Given the description of an element on the screen output the (x, y) to click on. 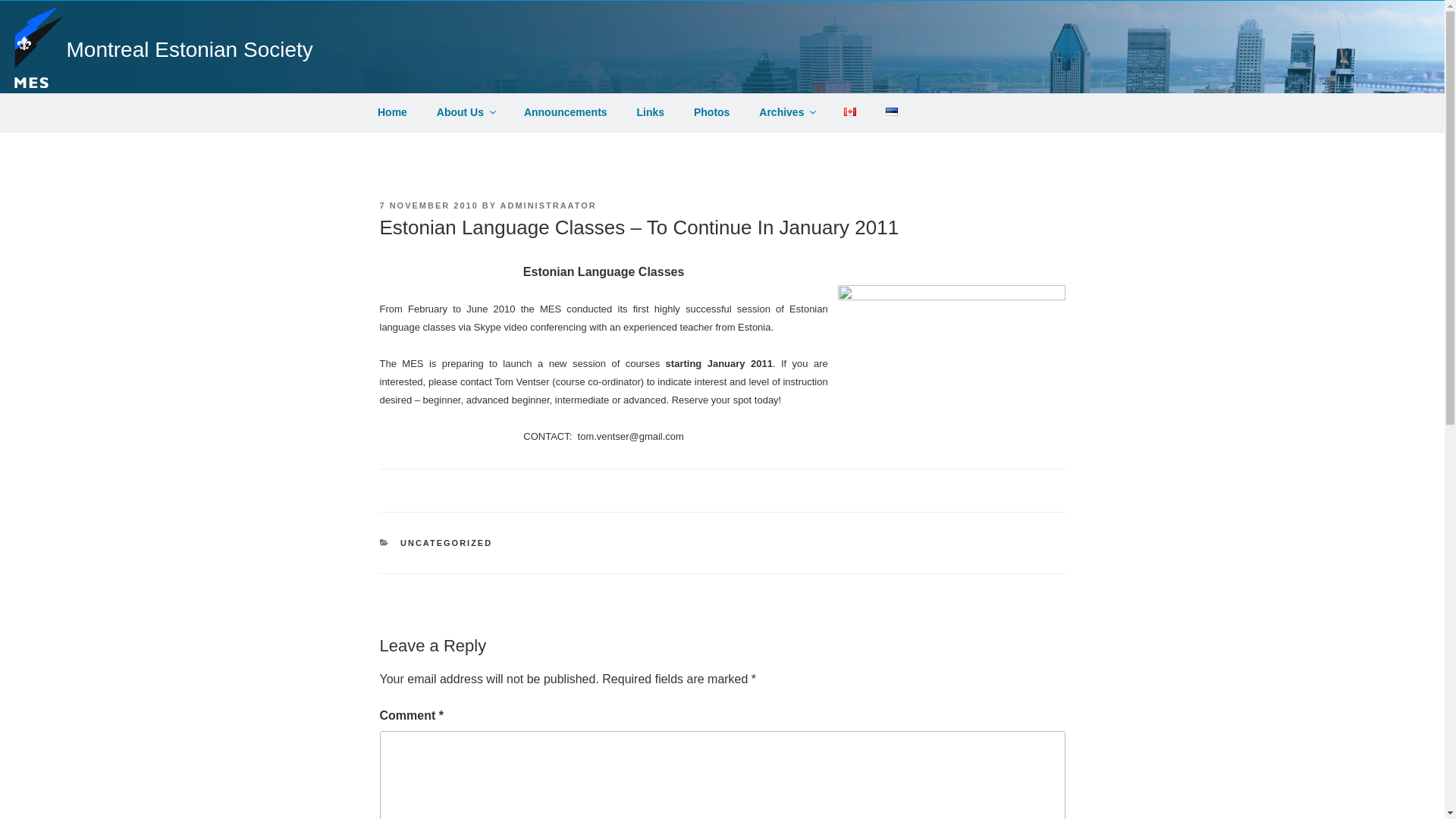
UNCATEGORIZED (446, 542)
Home (392, 112)
Archives (786, 112)
Announcements (565, 112)
About Us (464, 112)
7 NOVEMBER 2010 (427, 204)
Montreal Estonian Society (189, 49)
Photos (710, 112)
Links (650, 112)
ADMINISTRAATOR (548, 204)
